Given the description of an element on the screen output the (x, y) to click on. 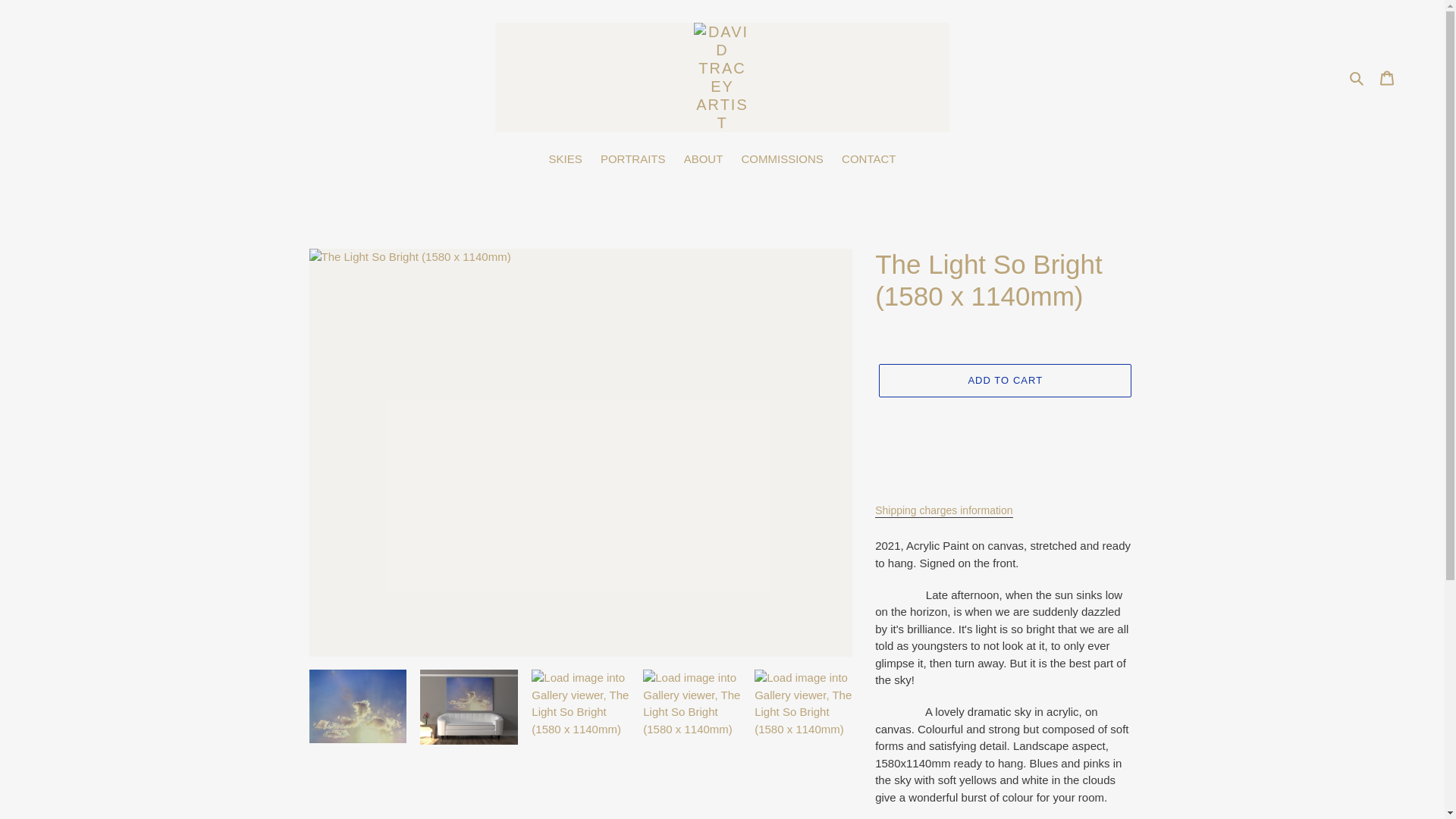
Search (1357, 76)
Shipping charges information (943, 510)
SKIES (565, 160)
ABOUT (703, 160)
Shipping charges information (943, 510)
PORTRAITS (632, 160)
COMMISSIONS (782, 160)
Cart (1387, 77)
ADD TO CART (1005, 380)
CONTACT (868, 160)
